Given the description of an element on the screen output the (x, y) to click on. 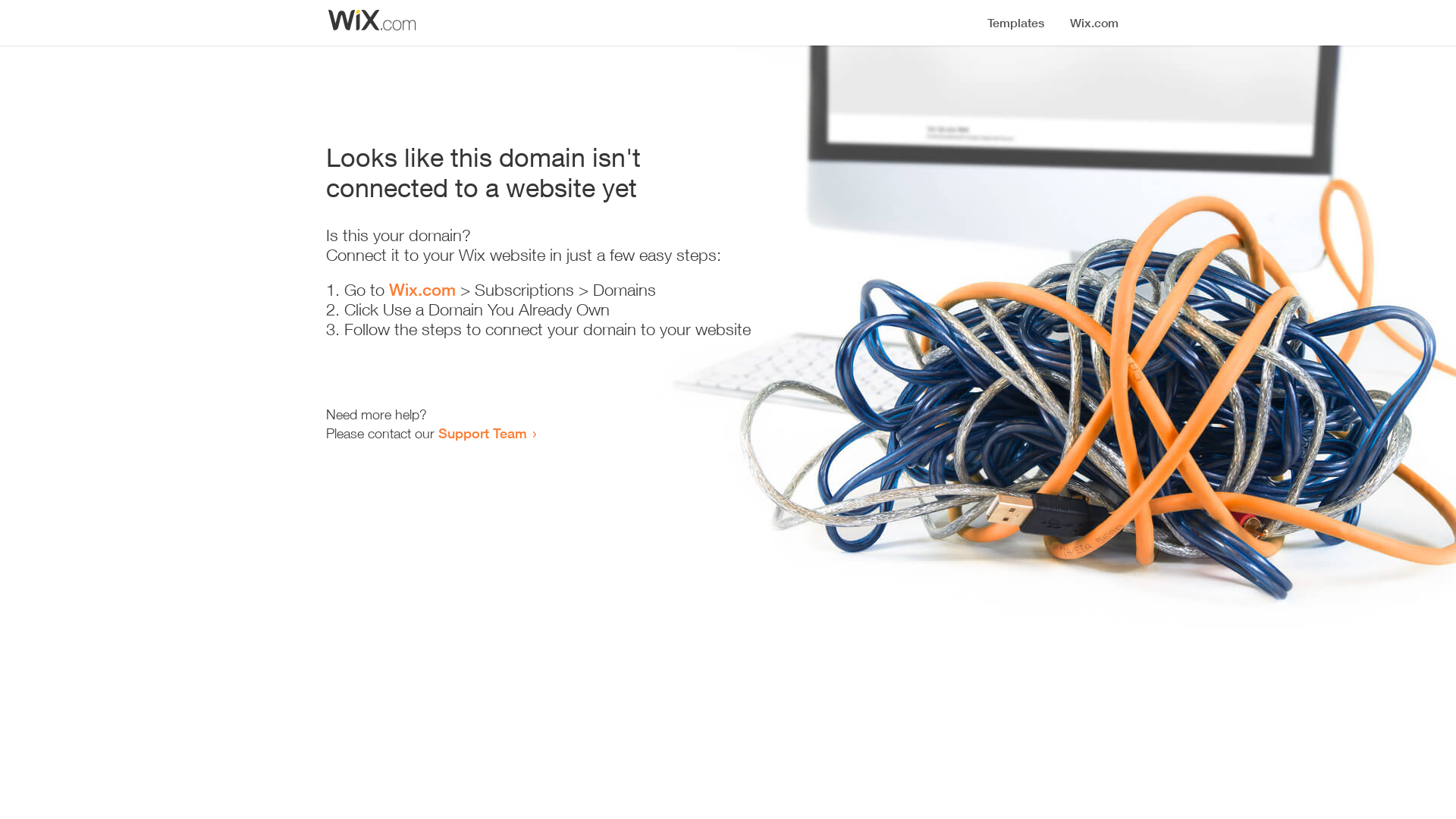
Wix.com Element type: text (422, 289)
Support Team Element type: text (482, 432)
